Given the description of an element on the screen output the (x, y) to click on. 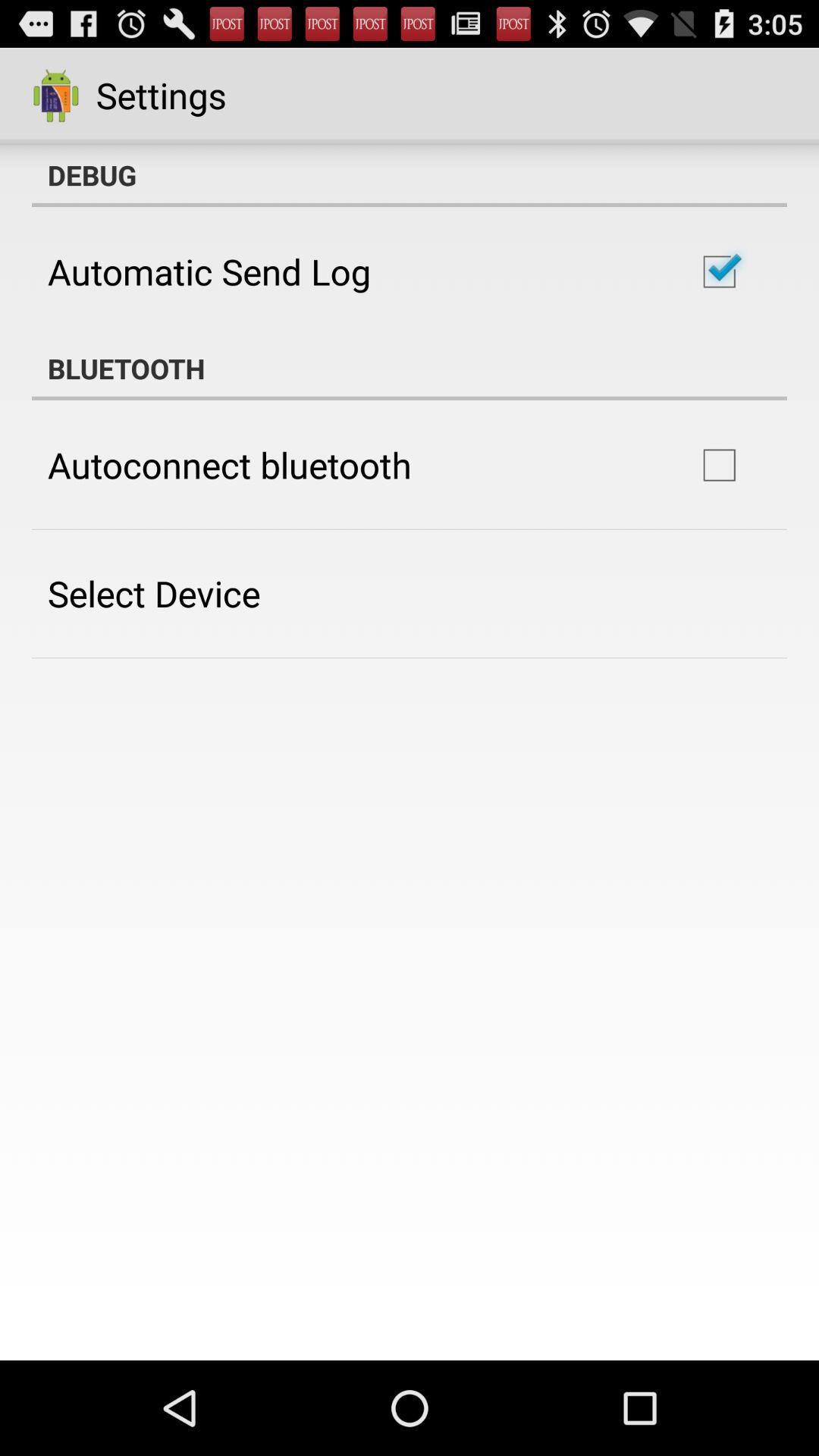
choose the autoconnect bluetooth item (229, 464)
